Given the description of an element on the screen output the (x, y) to click on. 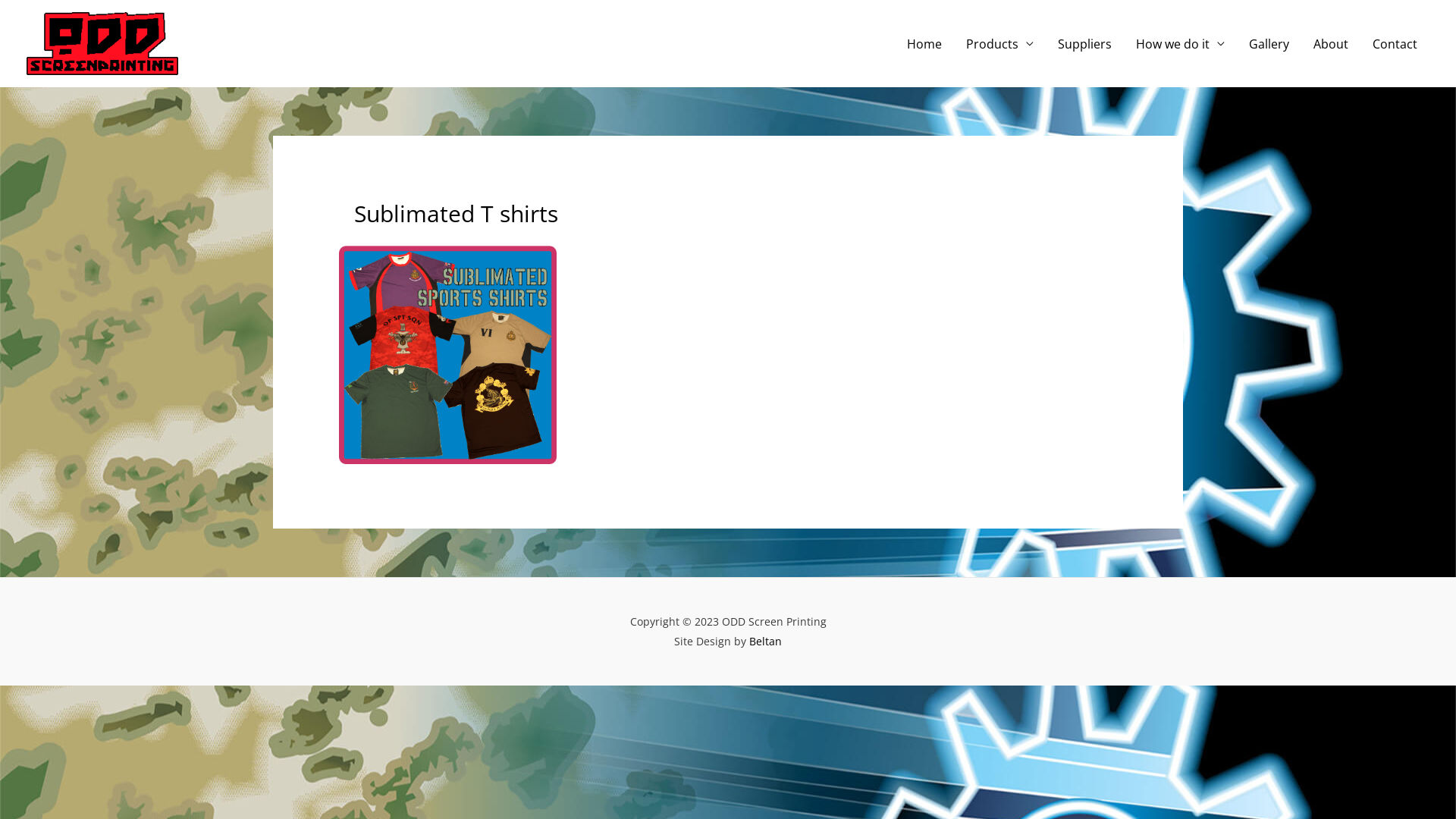
How we do it Element type: text (1179, 42)
Gallery Element type: text (1268, 42)
Beltan Element type: text (765, 640)
About Element type: text (1330, 42)
Products Element type: text (999, 42)
Home Element type: text (923, 42)
Suppliers Element type: text (1084, 42)
Contact Element type: text (1394, 42)
